Given the description of an element on the screen output the (x, y) to click on. 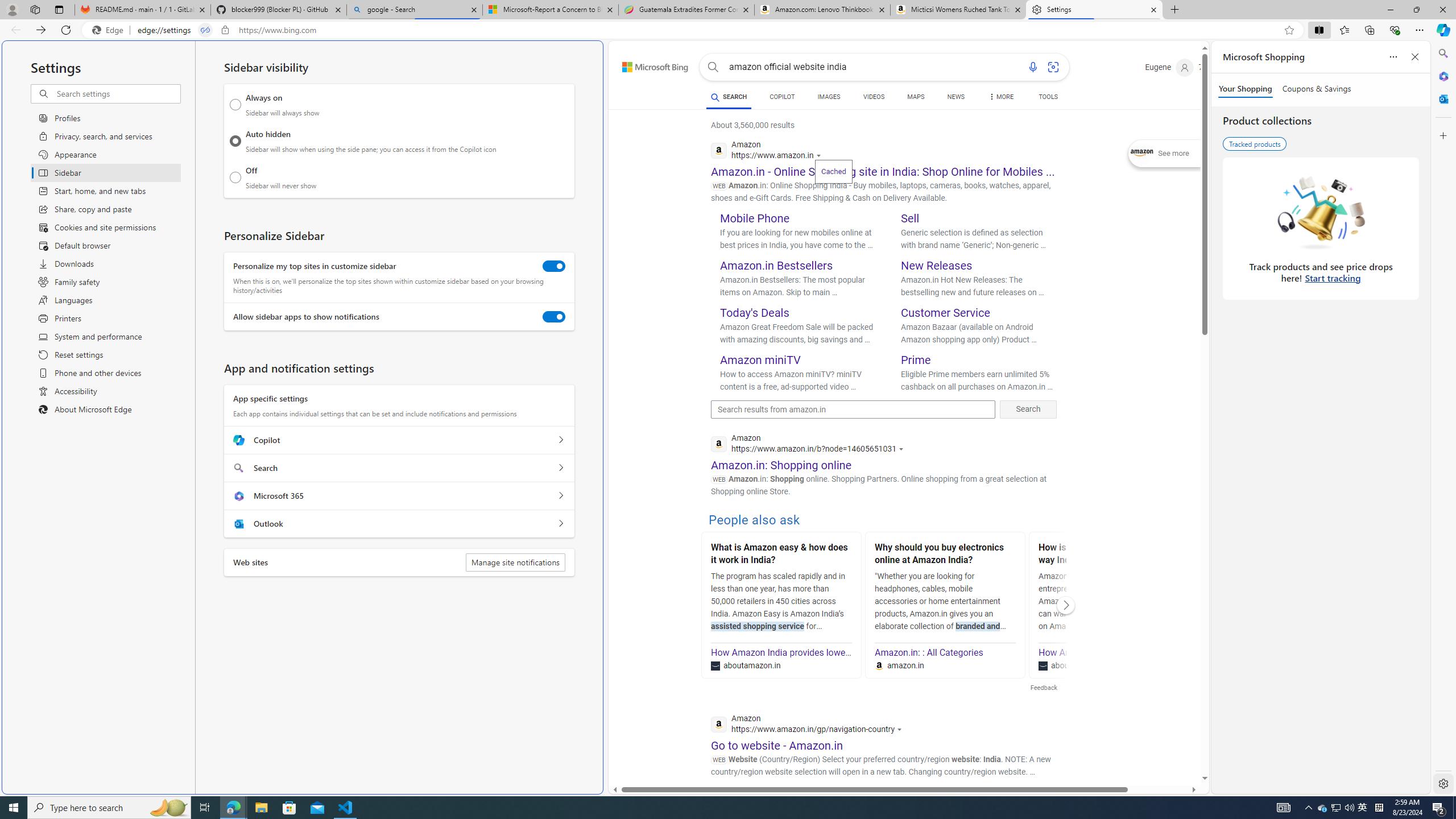
Search more (1179, 744)
Allow sidebar apps to show notifications (553, 316)
Prime (915, 359)
Mobile Phone (755, 218)
Search settings (117, 93)
COPILOT (781, 98)
Amazon miniTV (760, 359)
